Given the description of an element on the screen output the (x, y) to click on. 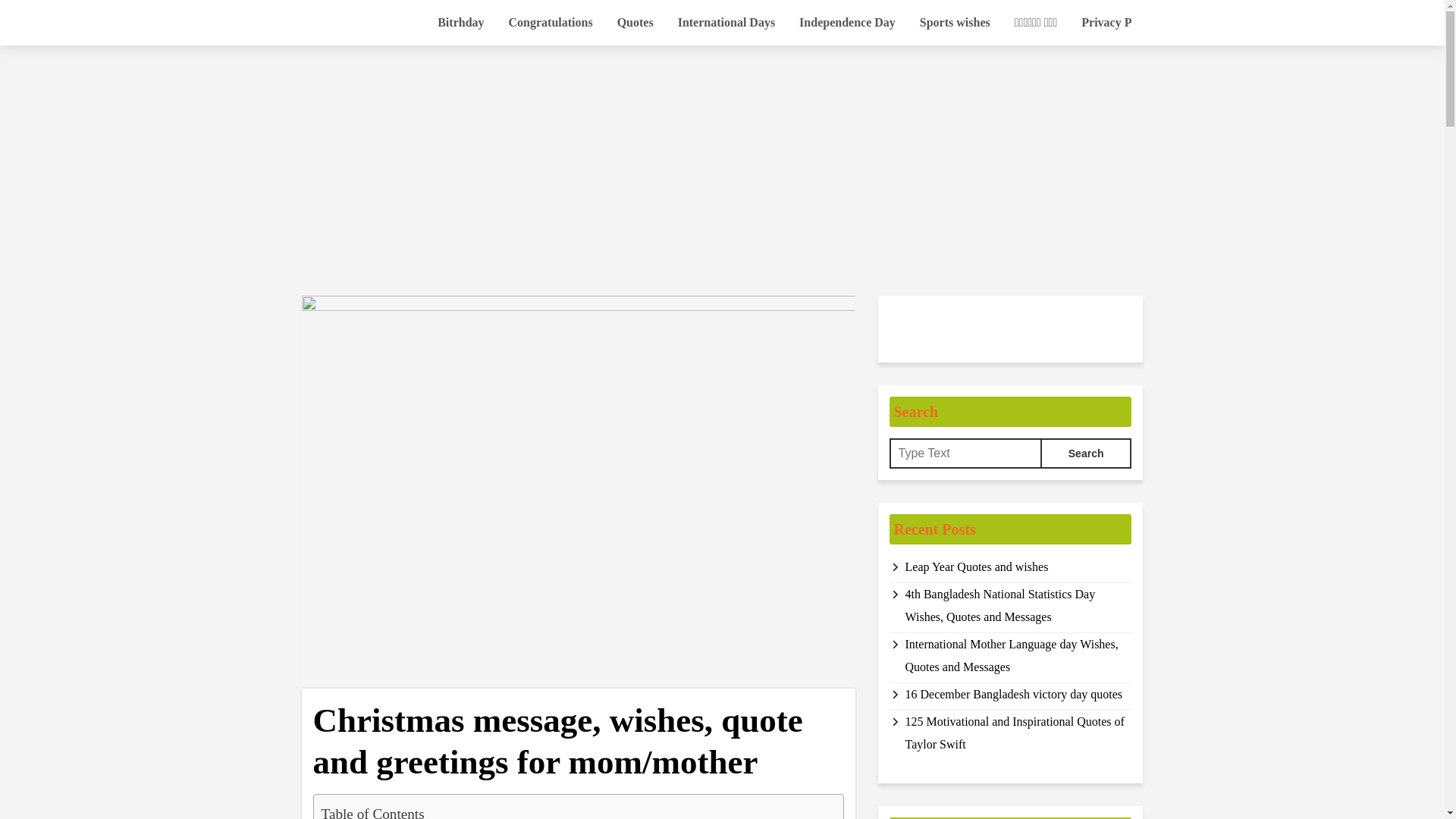
Privacy P (1106, 22)
Congratulations (550, 22)
Quotes (635, 22)
Search (1086, 453)
Independence Day (847, 22)
Search (1086, 453)
Sports wishes (954, 22)
International Days (726, 22)
Bitrhday (460, 22)
